Given the description of an element on the screen output the (x, y) to click on. 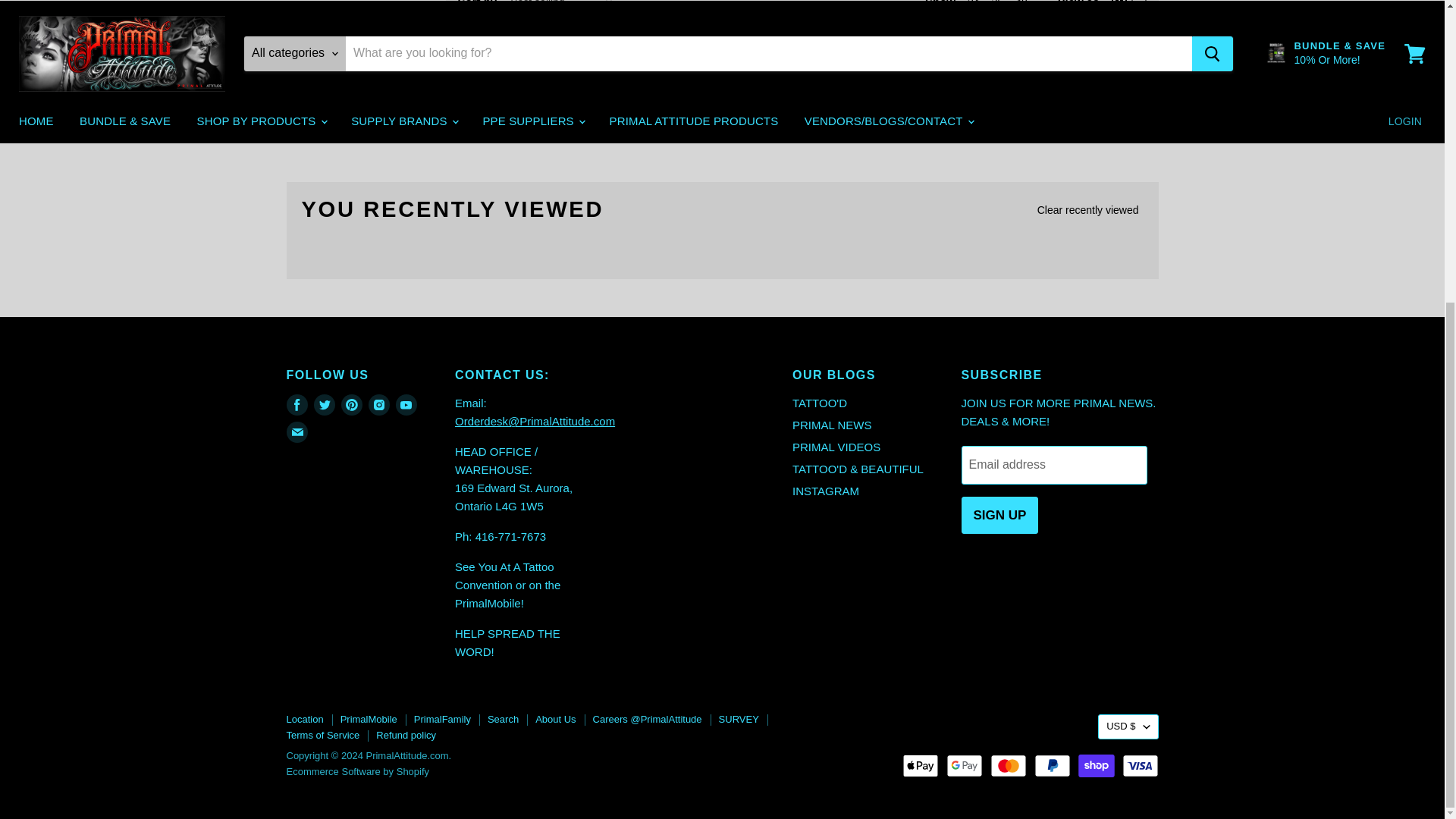
Instagram (379, 404)
Facebook (296, 404)
E-mail (296, 432)
Youtube (406, 404)
Mastercard (1008, 765)
Apple Pay (920, 765)
Twitter (324, 404)
Google Pay (964, 765)
Pinterest (351, 404)
